Given the description of an element on the screen output the (x, y) to click on. 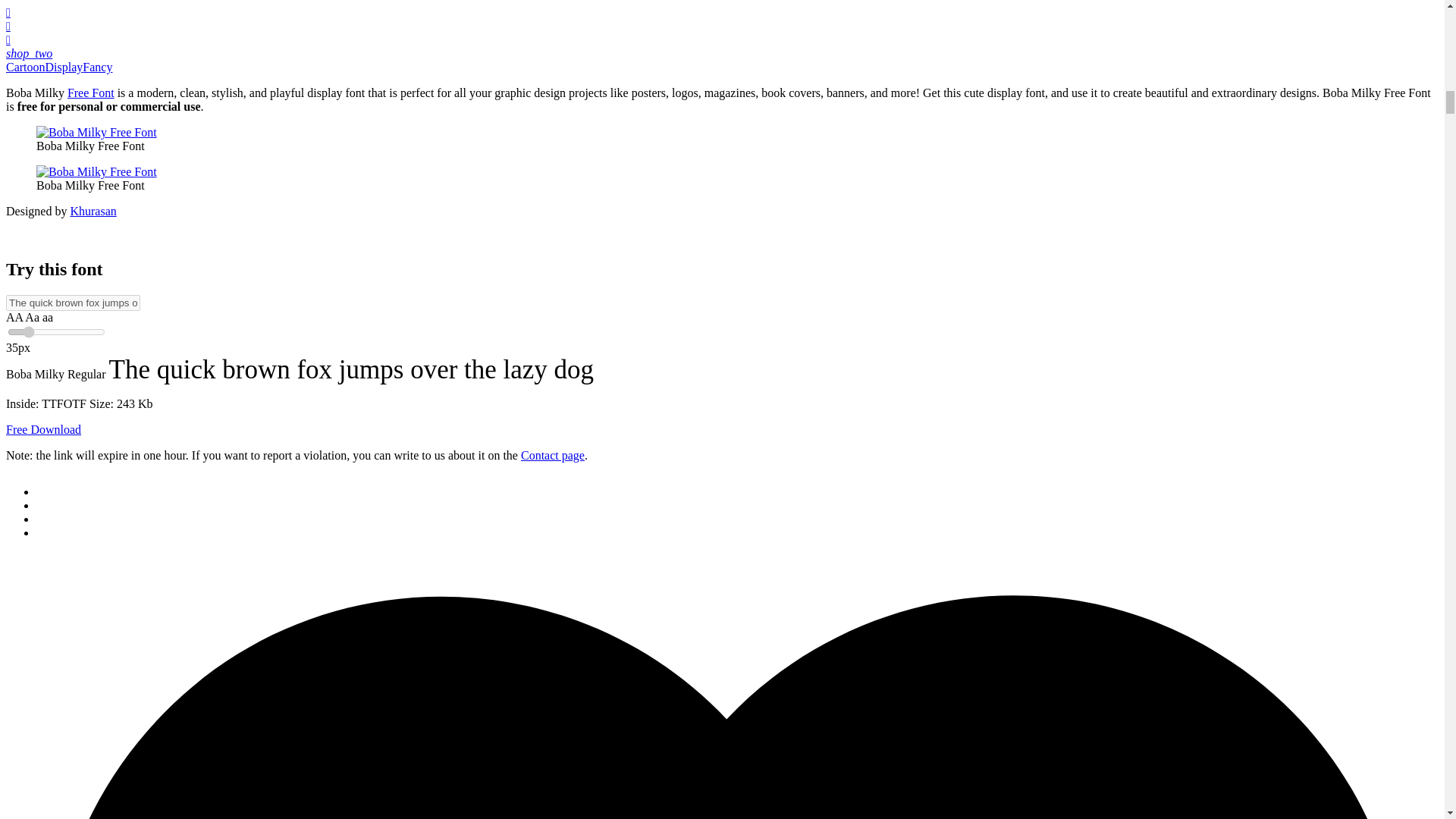
The quick brown fox jumps over the lazy dog (72, 302)
Display (63, 66)
Fancy (97, 66)
Cartoon (25, 66)
Khurasan (92, 210)
24 (55, 331)
AA (14, 317)
Free Font (90, 92)
